Given the description of an element on the screen output the (x, y) to click on. 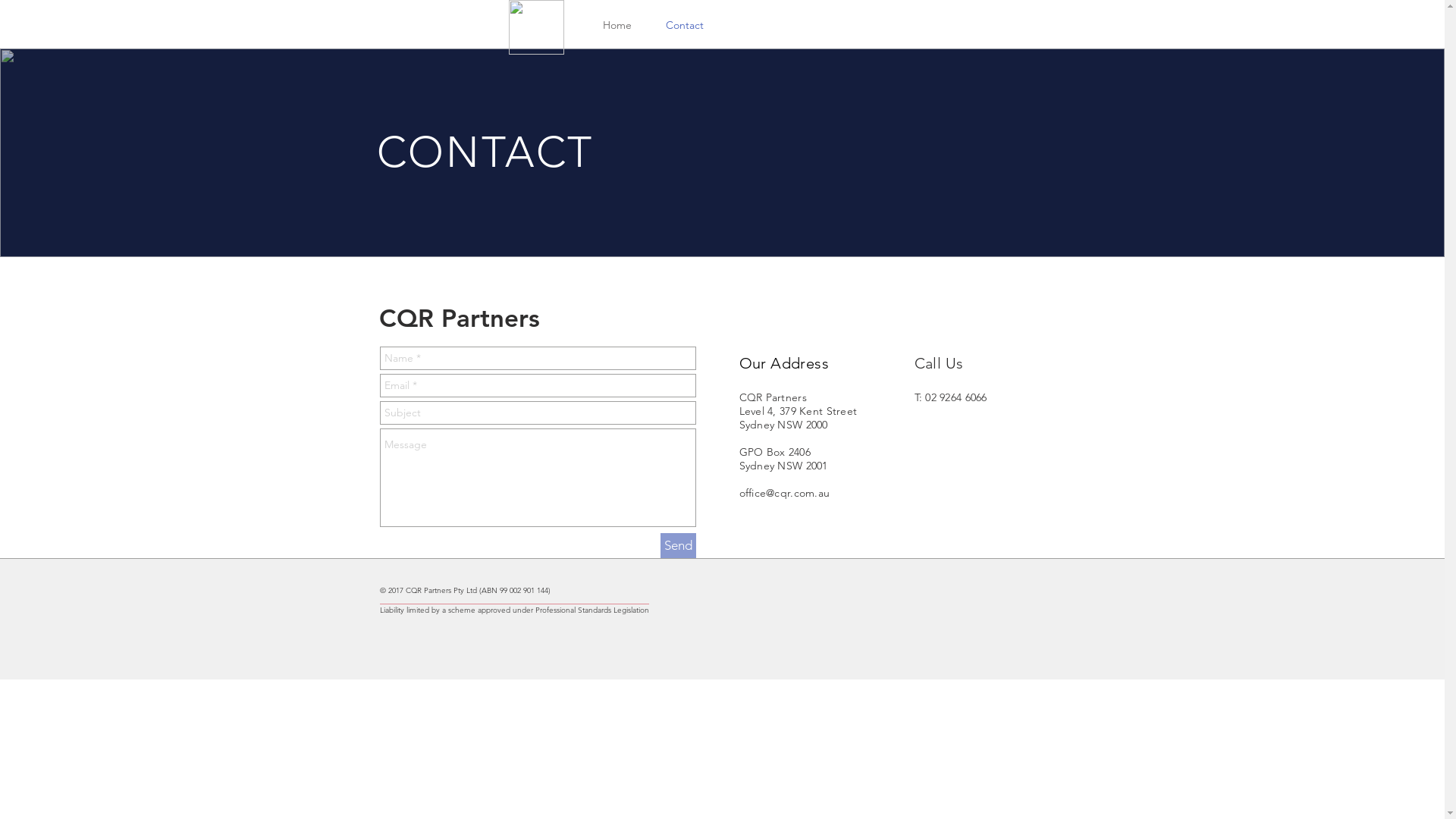
office@cqr.com.au Element type: text (783, 492)
Send Element type: text (677, 545)
Home Element type: text (616, 25)
Contact Element type: text (685, 25)
